Given the description of an element on the screen output the (x, y) to click on. 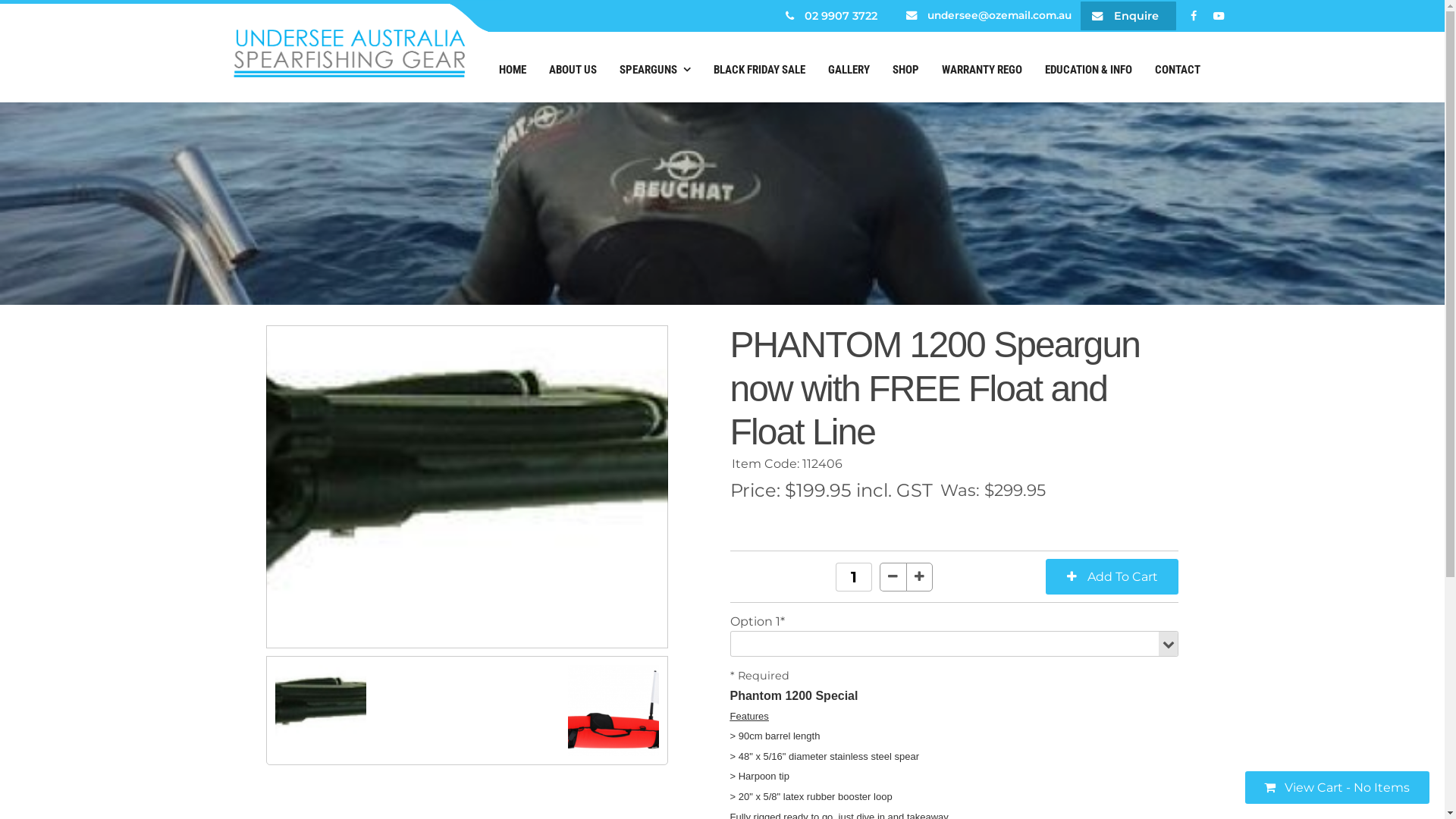
undersee@ozemail.com.au Element type: text (982, 15)
BLACK FRIDAY SALE Element type: text (759, 71)
CONTACT Element type: text (1177, 71)
HOME Element type: text (511, 71)
WARRANTY REGO Element type: text (980, 71)
SPEARGUNS Element type: text (655, 71)
EDUCATION & INFO Element type: text (1087, 71)
ABOUT US Element type: text (571, 71)
GALLERY Element type: text (847, 71)
Enquire Element type: text (1128, 15)
View Cart - No Items Element type: text (1337, 787)
SHOP Element type: text (905, 71)
